Given the description of an element on the screen output the (x, y) to click on. 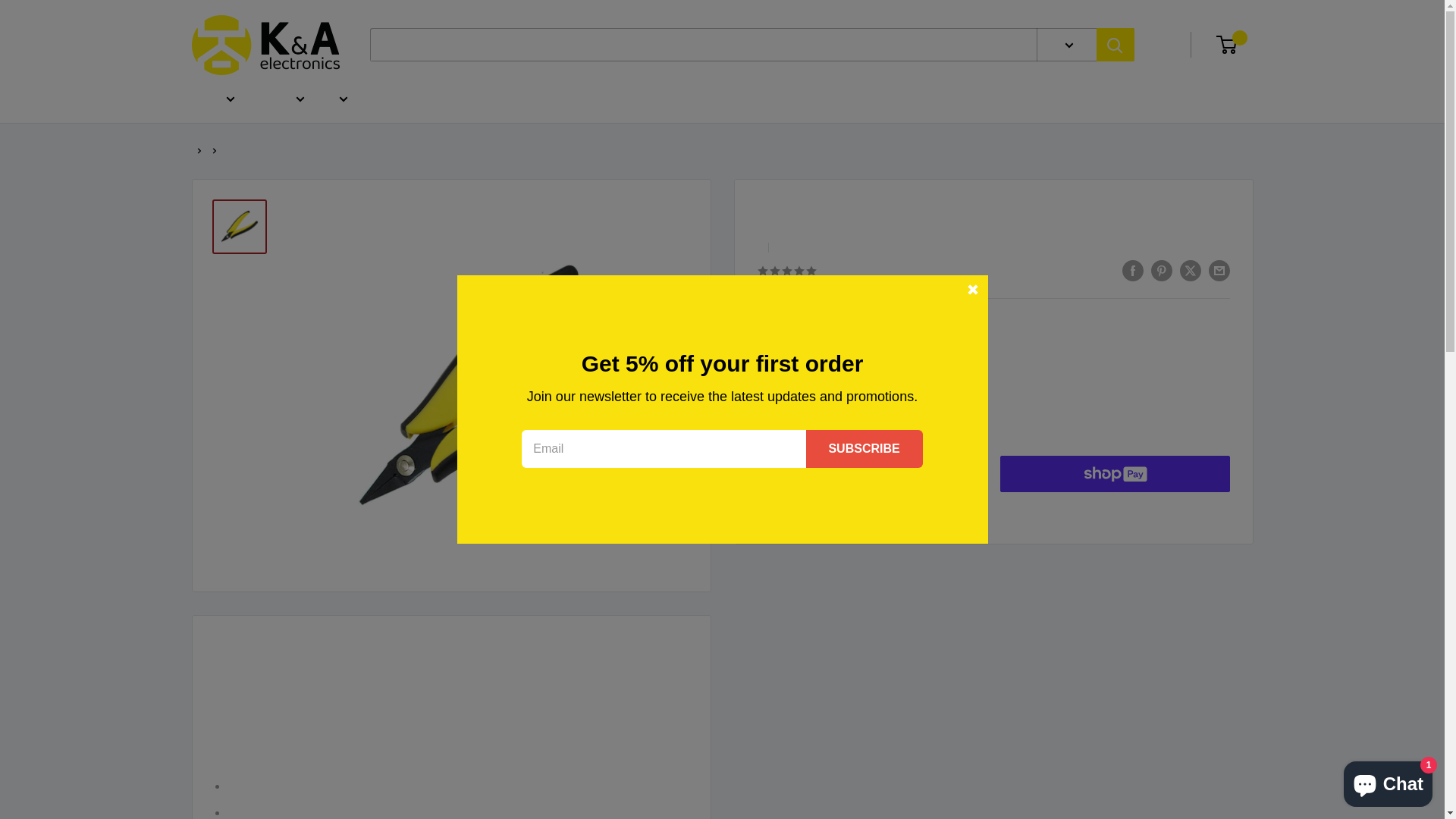
0
Cart Element type: text (1235, 44)
Decrease quantity by 1 Element type: hover (783, 417)
More payment options Element type: text (1115, 509)
Contact Us Element type: text (338, 98)
Shopify online store chat Element type: hover (1388, 780)
Add to cart Element type: text (871, 473)
Store Element type: text (226, 98)
No reviews Element type: text (790, 270)
K & A Electronics Element type: text (264, 45)
Projects Element type: text (296, 98)
Increase quantity by 1 Element type: hover (863, 417)
